Given the description of an element on the screen output the (x, y) to click on. 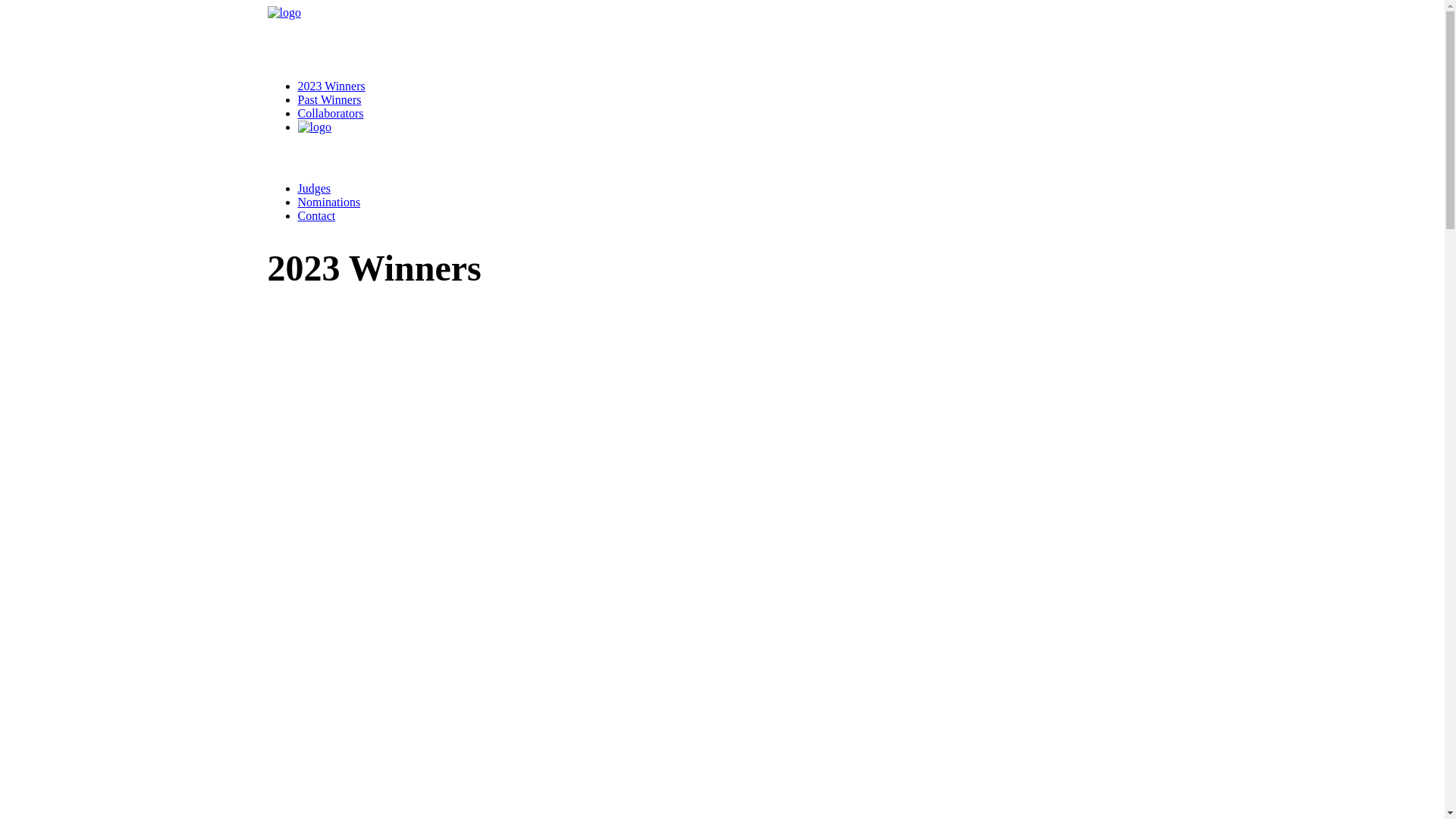
Contact Element type: text (316, 215)
2023 Winners Element type: text (330, 85)
Nominations Element type: text (328, 201)
Collaborators Element type: text (330, 112)
Past Winners Element type: text (328, 99)
Judges Element type: text (313, 188)
